Given the description of an element on the screen output the (x, y) to click on. 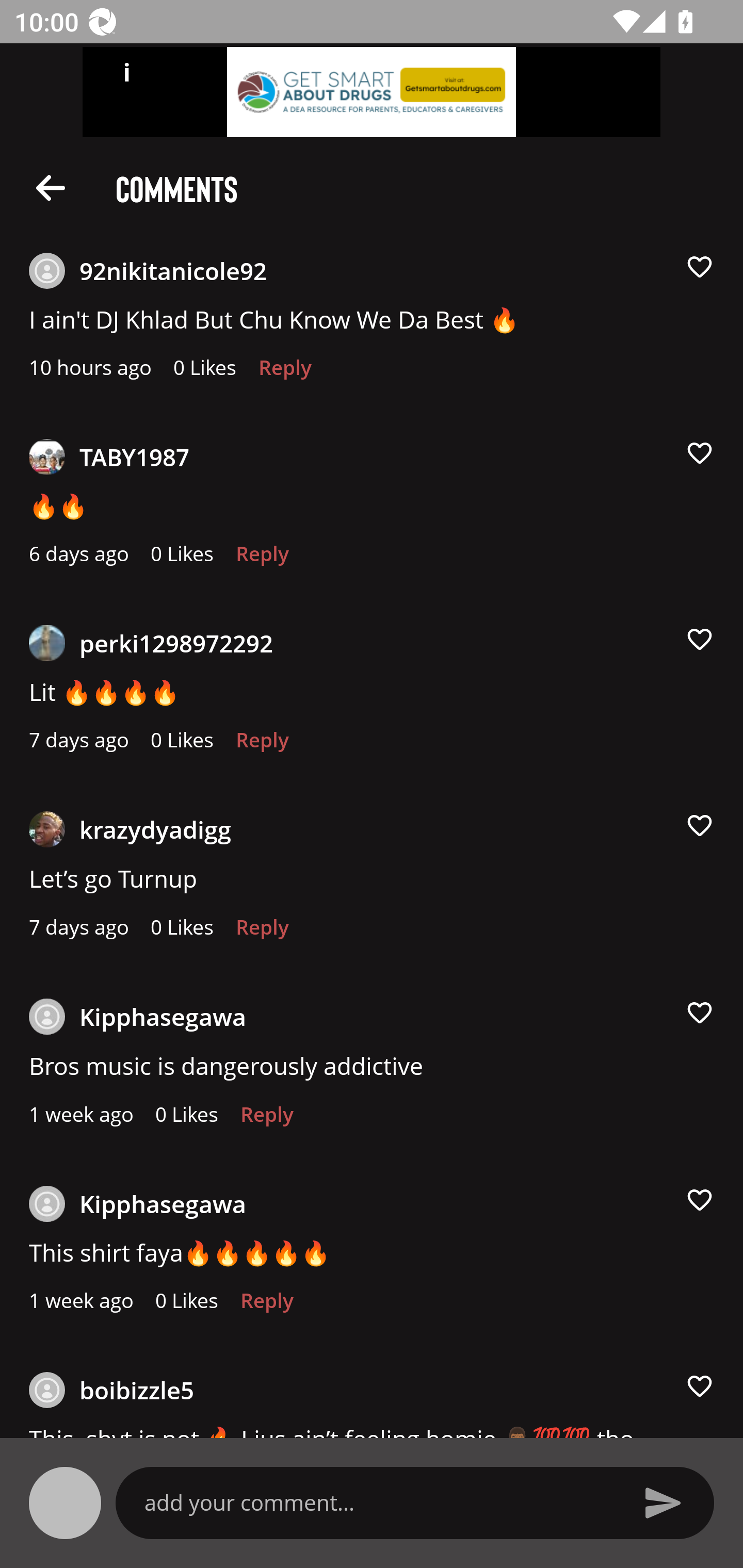
Description (50, 187)
Reply (285, 372)
Reply (261, 558)
Reply (261, 744)
Reply (261, 932)
Reply (266, 1119)
Reply (266, 1305)
add your comment… (378, 1502)
